Given the description of an element on the screen output the (x, y) to click on. 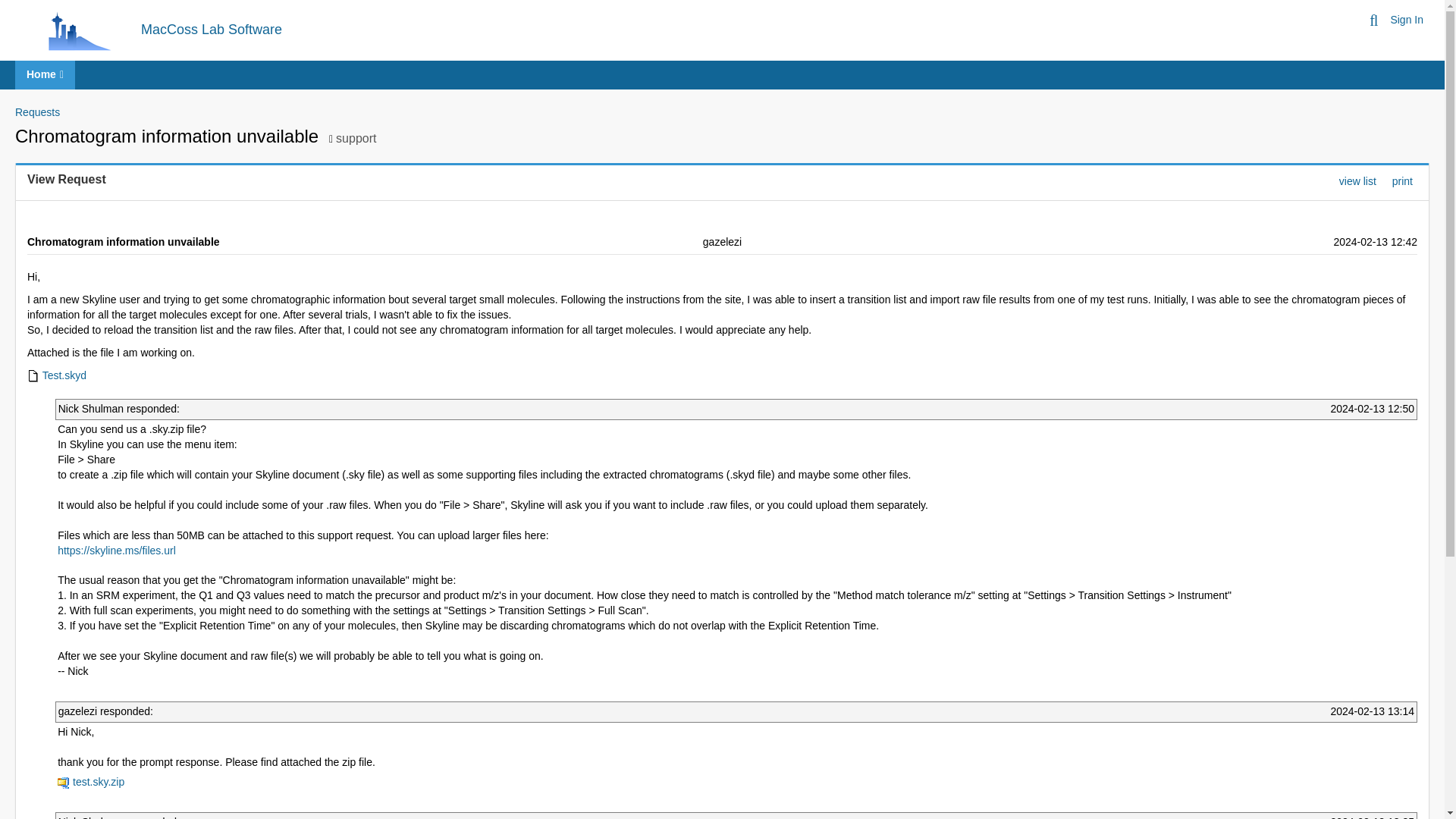
Home (44, 74)
Sign In (1406, 20)
 test.sky.zip (90, 781)
support (355, 137)
print (1401, 180)
Requests (36, 111)
MacCoss Lab Software (211, 29)
View Request (66, 178)
view list (1357, 180)
View Request (66, 179)
